Given the description of an element on the screen output the (x, y) to click on. 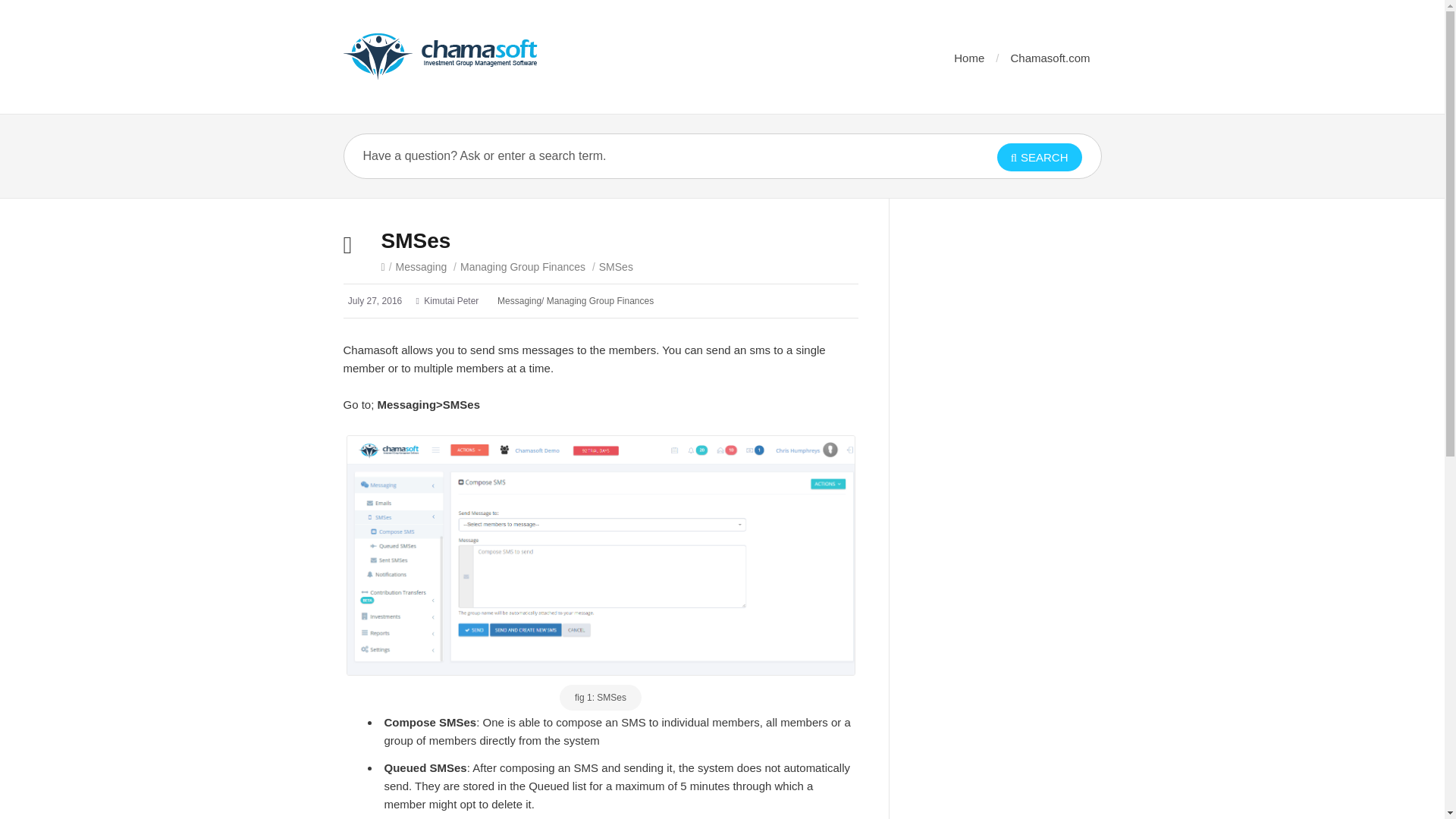
Managing Group Finances (522, 266)
Messaging (421, 266)
Home (968, 57)
SEARCH (1039, 157)
Messaging (519, 300)
View all posts in Managing Group Finances (522, 266)
Chamasoft.com (1049, 57)
Have a question? Ask or enter a search term. (646, 156)
View all posts in Messaging (421, 266)
Chamasoft (439, 56)
